Given the description of an element on the screen output the (x, y) to click on. 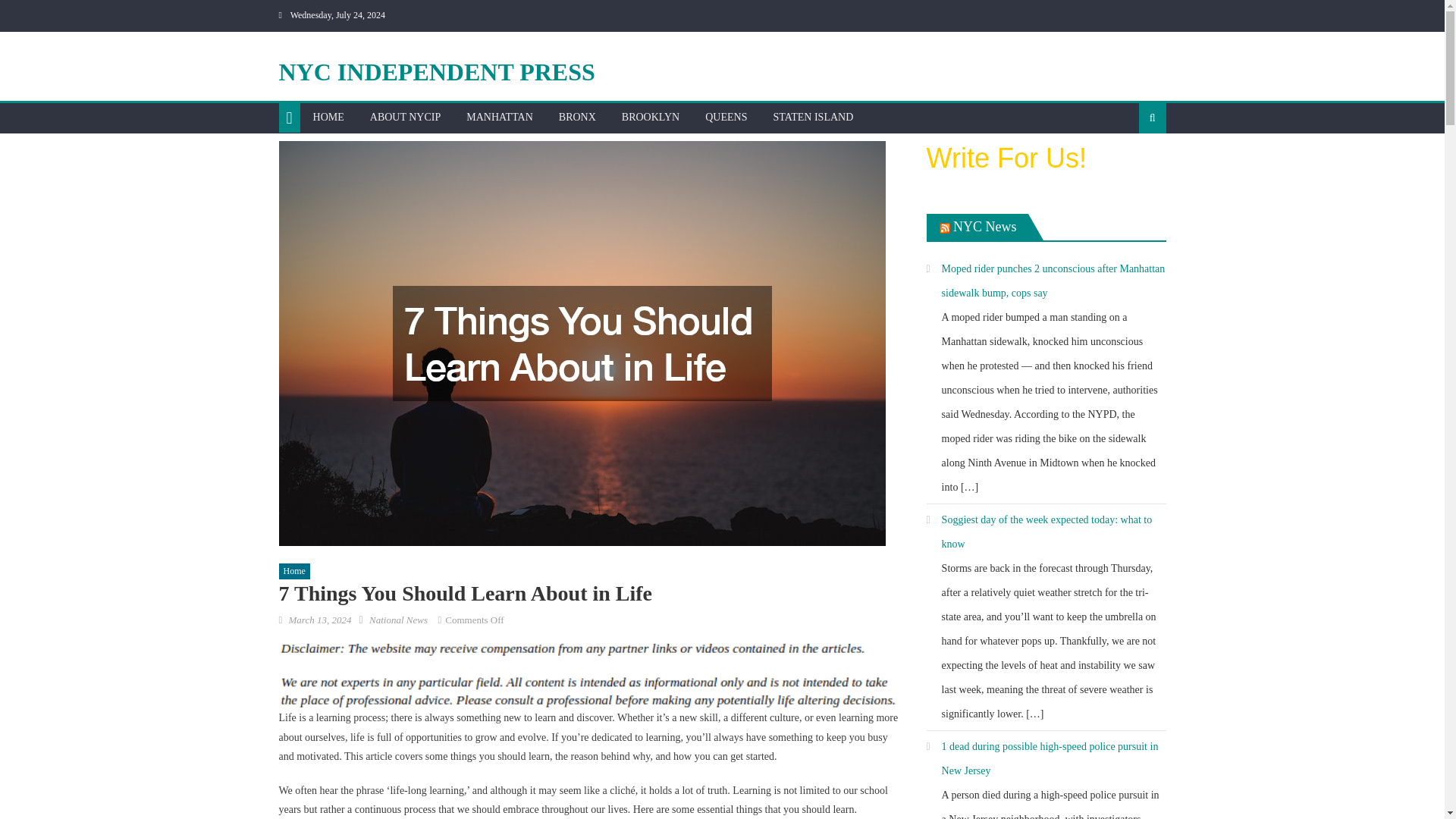
Home (294, 571)
BROOKLYN (650, 117)
National News (398, 619)
ABOUT NYCIP (404, 117)
BRONX (577, 117)
STATEN ISLAND (812, 117)
MANHATTAN (499, 117)
HOME (328, 117)
QUEENS (726, 117)
NYC INDEPENDENT PRESS (437, 71)
March 13, 2024 (319, 619)
Search (1128, 166)
